Given the description of an element on the screen output the (x, y) to click on. 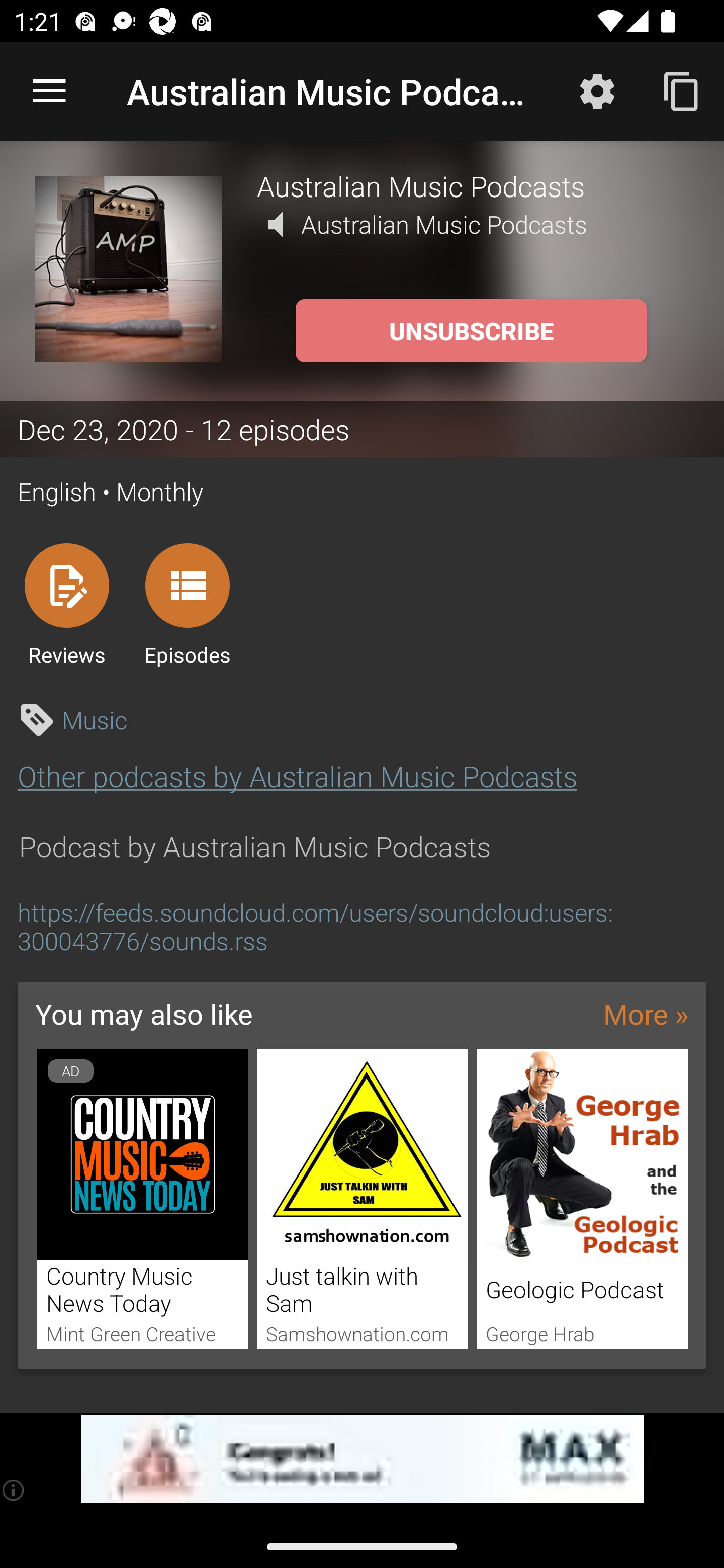
Open navigation sidebar (49, 91)
Settings (597, 90)
Copy feed url to clipboard (681, 90)
Australian Music Podcasts (472, 185)
UNSUBSCRIBE (470, 330)
Reviews (66, 604)
Episodes (187, 604)
Other podcasts by Australian Music Podcasts (297, 775)
More » (645, 1013)
AD Country Music News Today Mint Green Creative (142, 1198)
Just talkin with Sam Samshownation.com (362, 1198)
Geologic Podcast George Hrab (581, 1198)
app-monetization (362, 1459)
(i) (14, 1489)
